Given the description of an element on the screen output the (x, y) to click on. 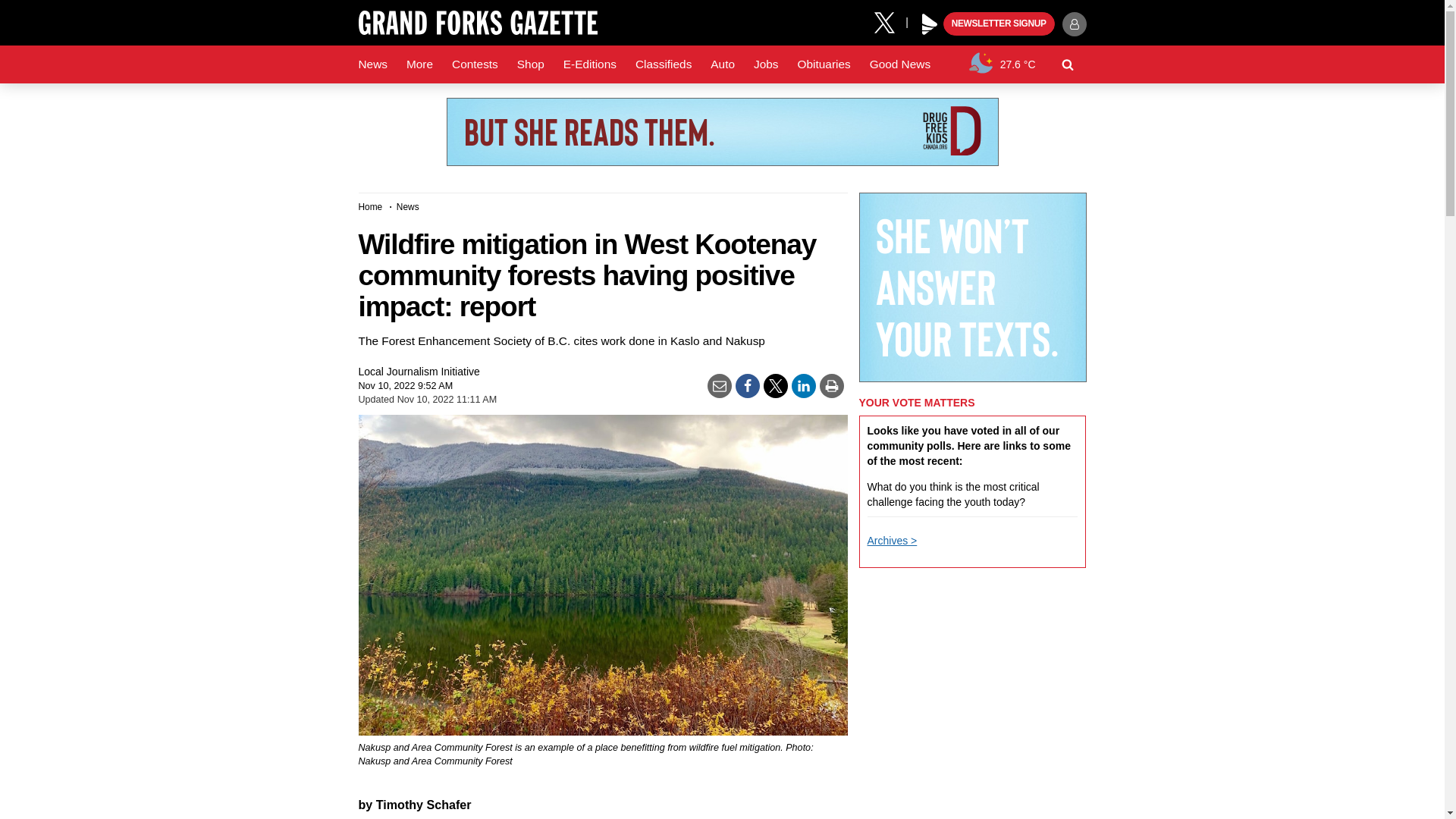
NEWSLETTER SIGNUP (998, 24)
3rd party ad content (972, 287)
X (889, 21)
3rd party ad content (721, 131)
Play (929, 24)
News (372, 64)
Black Press Media (929, 24)
